Given the description of an element on the screen output the (x, y) to click on. 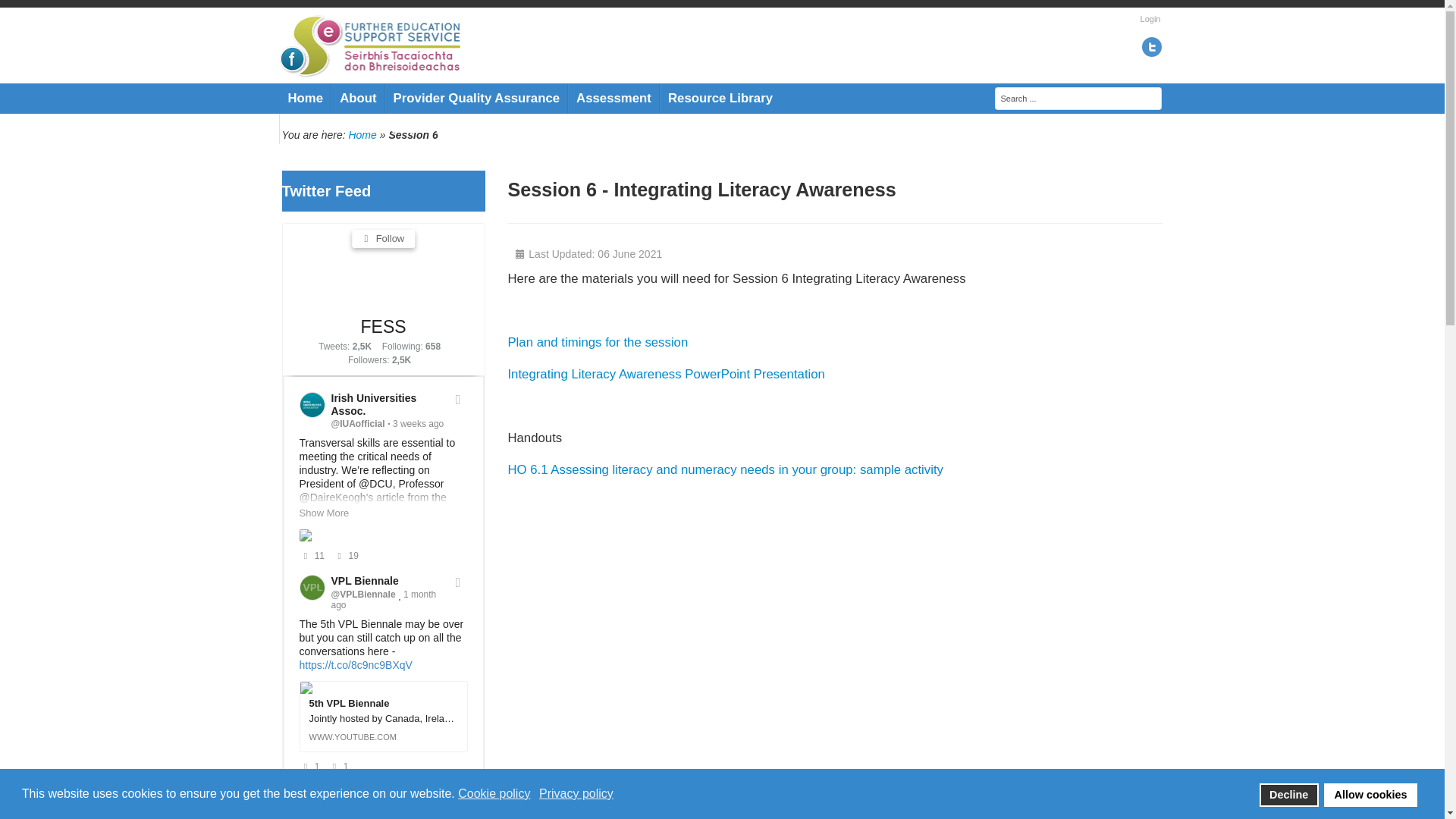
Cookie policy (495, 793)
Privacy policy (576, 793)
Decline (1289, 794)
Twitter (1151, 46)
Assessment (614, 98)
Provider Quality Assurance (476, 98)
Search ... (1077, 97)
View on Twitter (457, 793)
View on Twitter (457, 581)
Allow cookies (1369, 794)
